Given the description of an element on the screen output the (x, y) to click on. 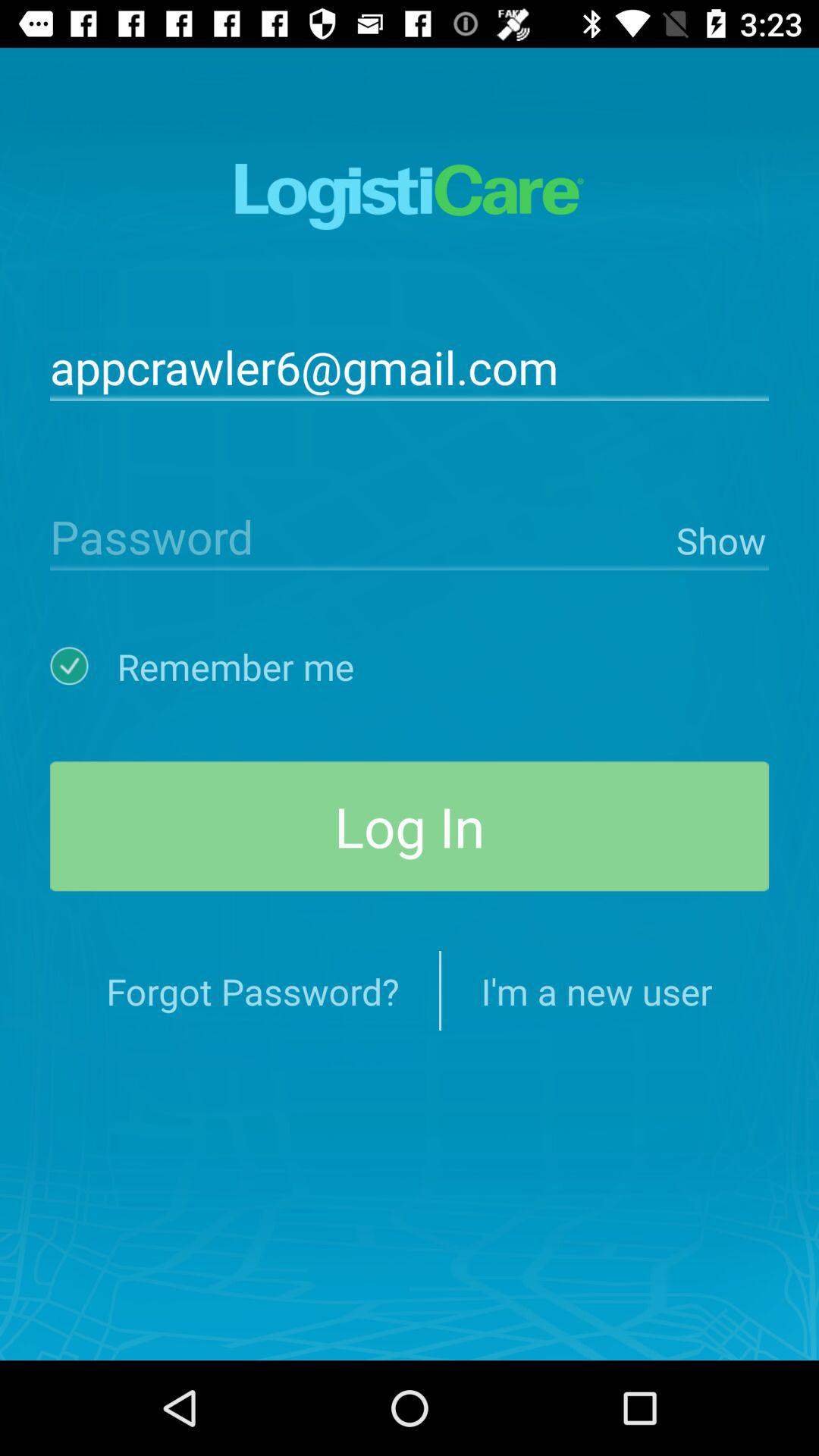
click item above the log in (718, 536)
